Given the description of an element on the screen output the (x, y) to click on. 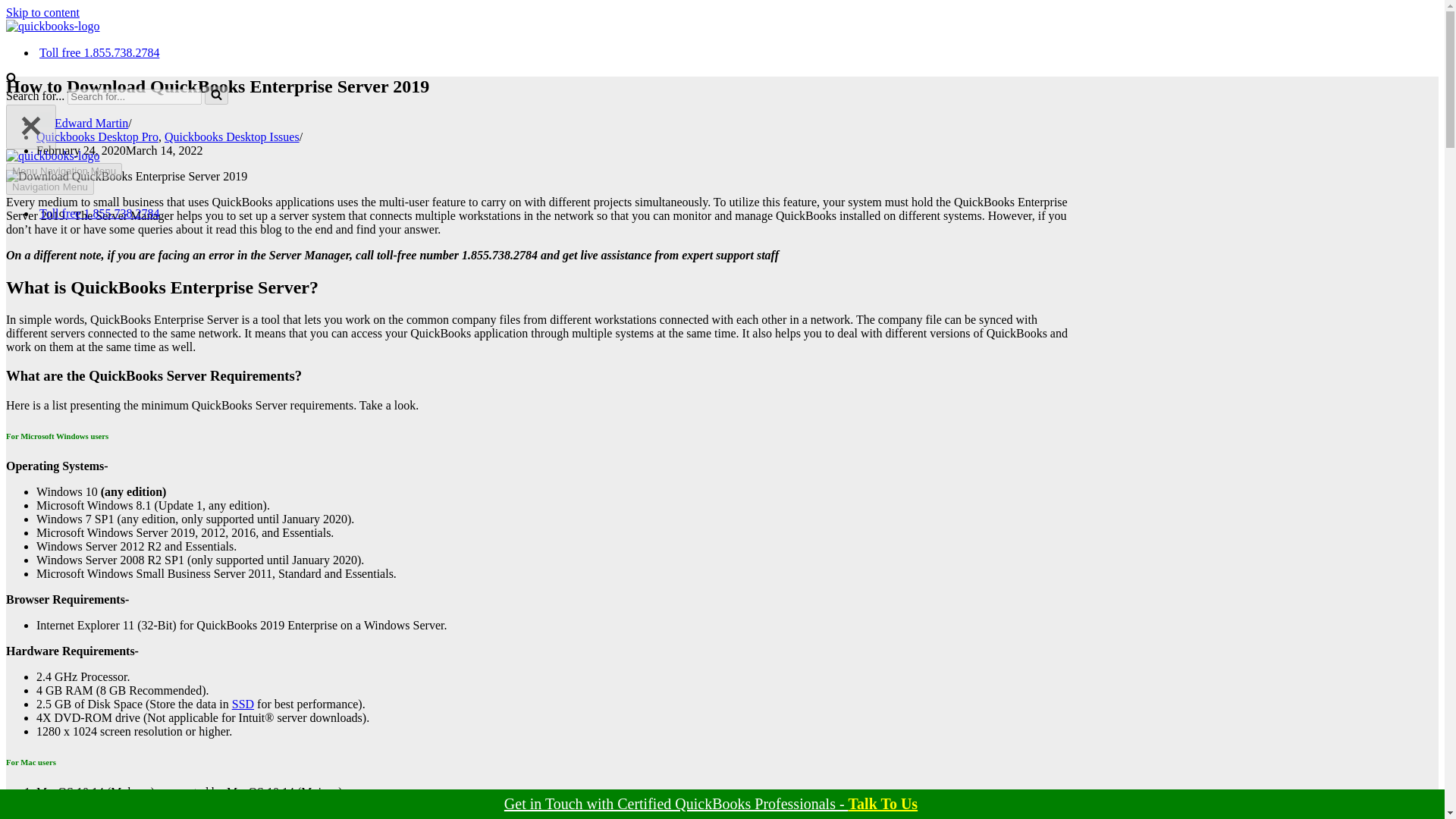
Toll free 1.855.738.2784 (98, 52)
Posts by Edward Martin (91, 123)
1.855.738.2784 (675, 803)
Edward Martin (91, 123)
SSD (242, 703)
Navigation Menu (49, 186)
Skip to content (42, 11)
Toll free 1.855.738.2784 (98, 213)
Quickbooks Desktop Issues (231, 136)
Quickbooks Desktop Pro (97, 136)
Menu Navigation Menu (63, 170)
